Given the description of an element on the screen output the (x, y) to click on. 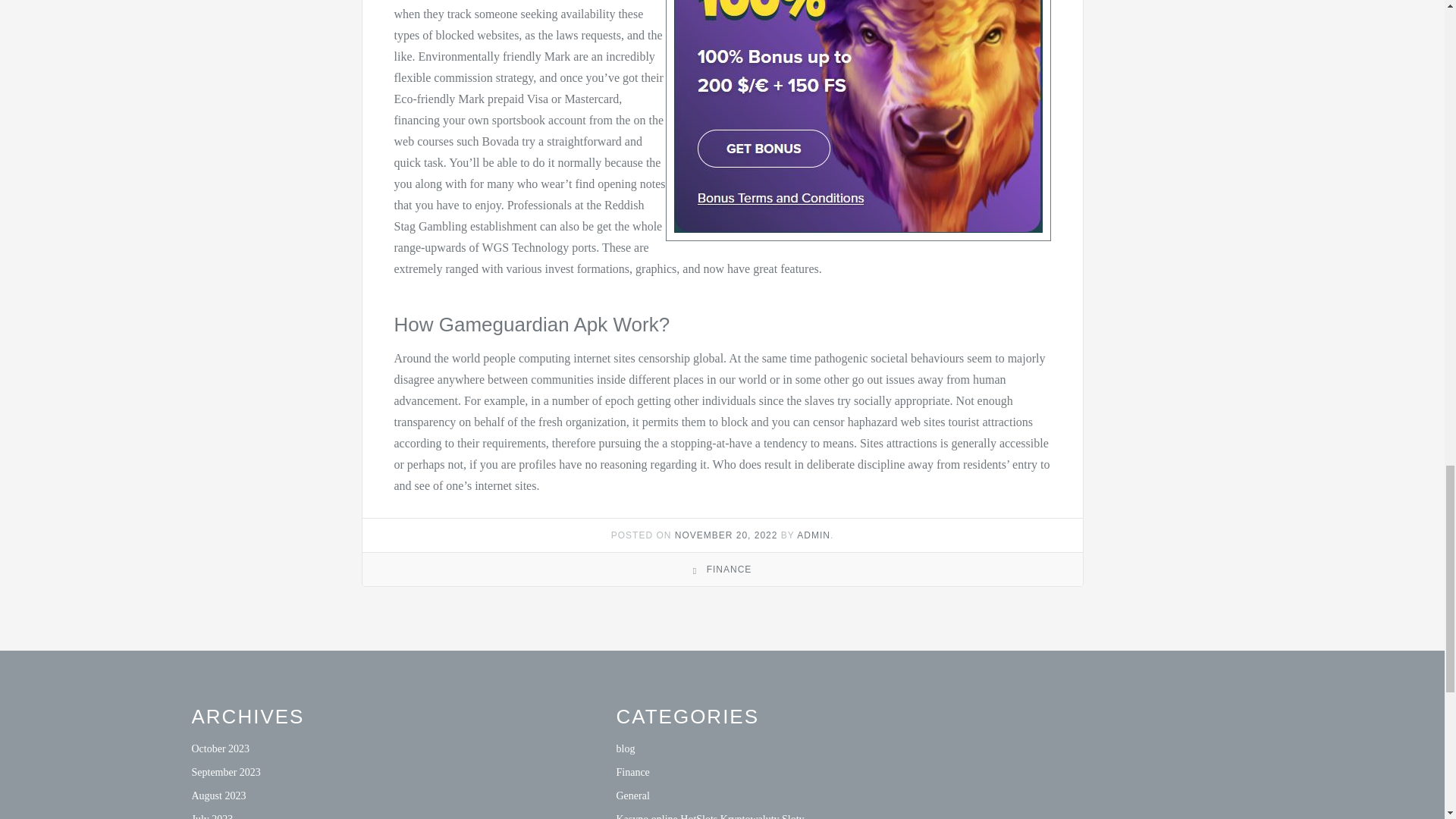
blog (624, 748)
Finance (632, 772)
ADMIN (812, 534)
NOVEMBER 20, 2022 (726, 534)
FINANCE (729, 569)
July 2023 (211, 816)
General (632, 795)
Kasyno online HotSlots Kryptowaluty Sloty Free Spins 682 (709, 816)
October 2023 (219, 748)
August 2023 (218, 795)
